Given the description of an element on the screen output the (x, y) to click on. 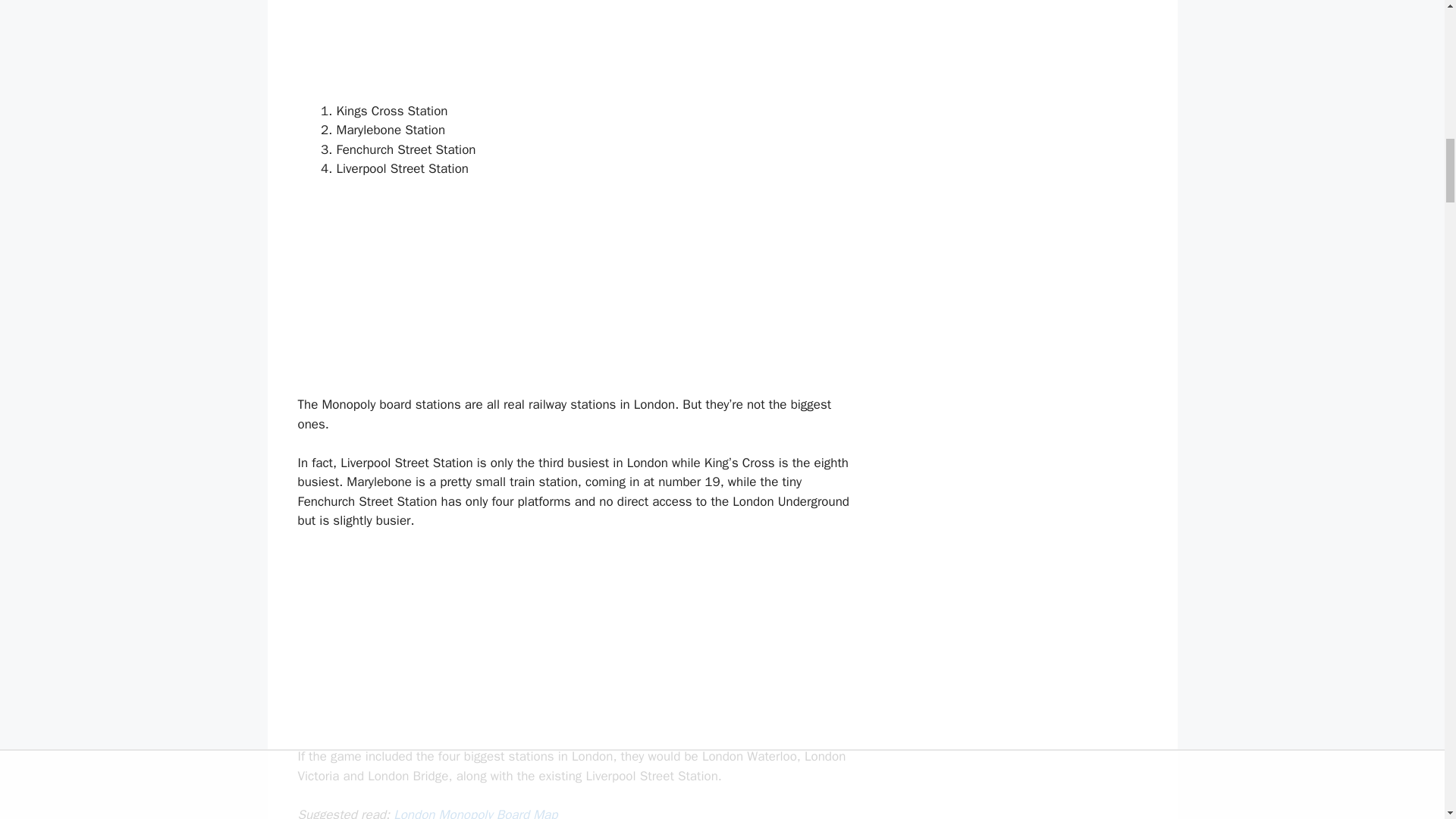
London Monopoly Board Map (475, 812)
